Given the description of an element on the screen output the (x, y) to click on. 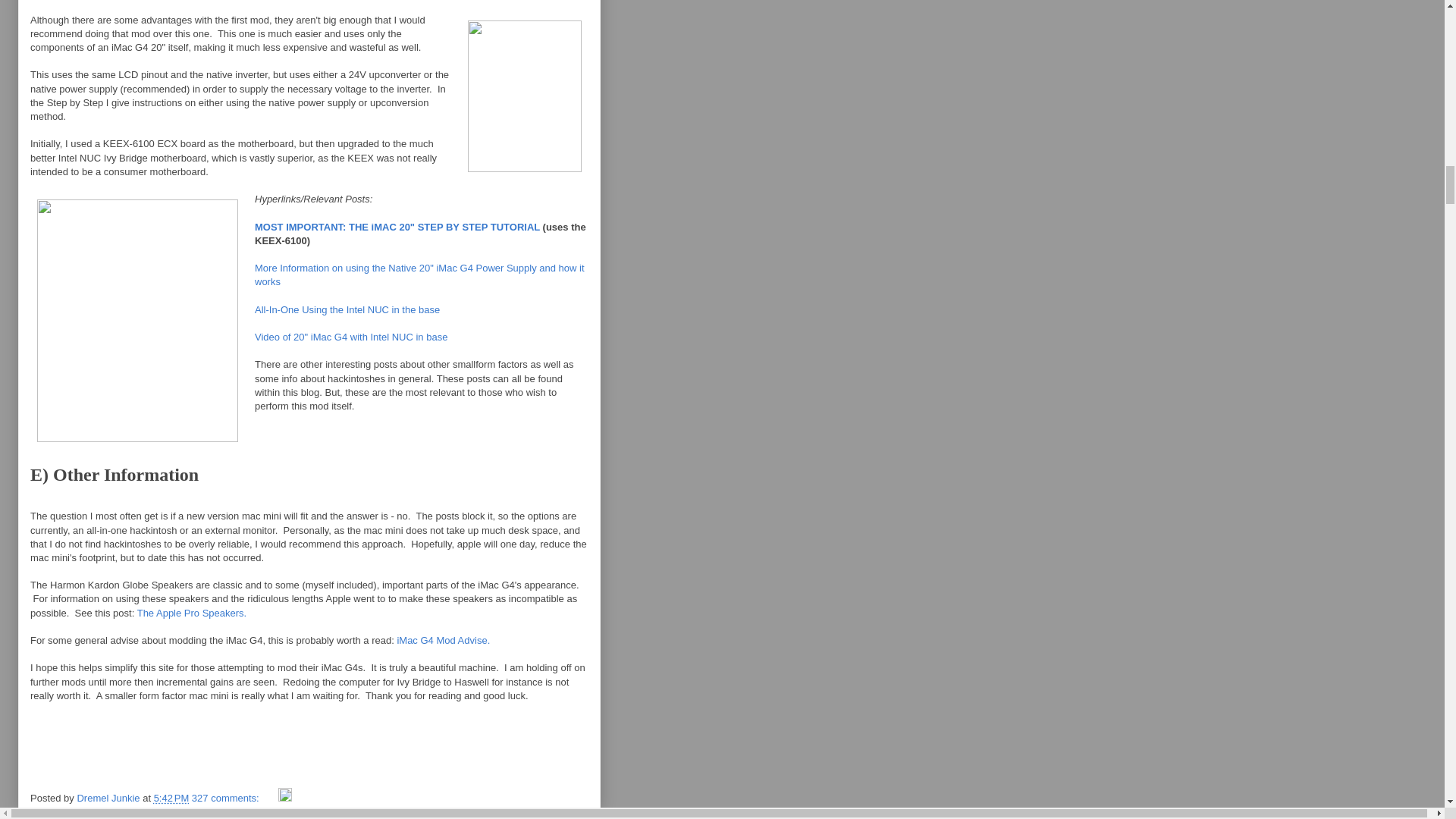
Email Post (270, 797)
MOST IMPORTANT: THE iMAC 20" STEP BY STEP TUTORIAL (397, 226)
iMac G4 Mod Advise. (442, 640)
permanent link (171, 797)
The Apple Pro Speakers. (191, 613)
Video of 20" iMac G4 with Intel NUC in base (350, 337)
Edit Post (285, 797)
All-In-One Using the Intel NUC in the base (346, 309)
author profile (109, 797)
Dremel Junkie (109, 797)
